Given the description of an element on the screen output the (x, y) to click on. 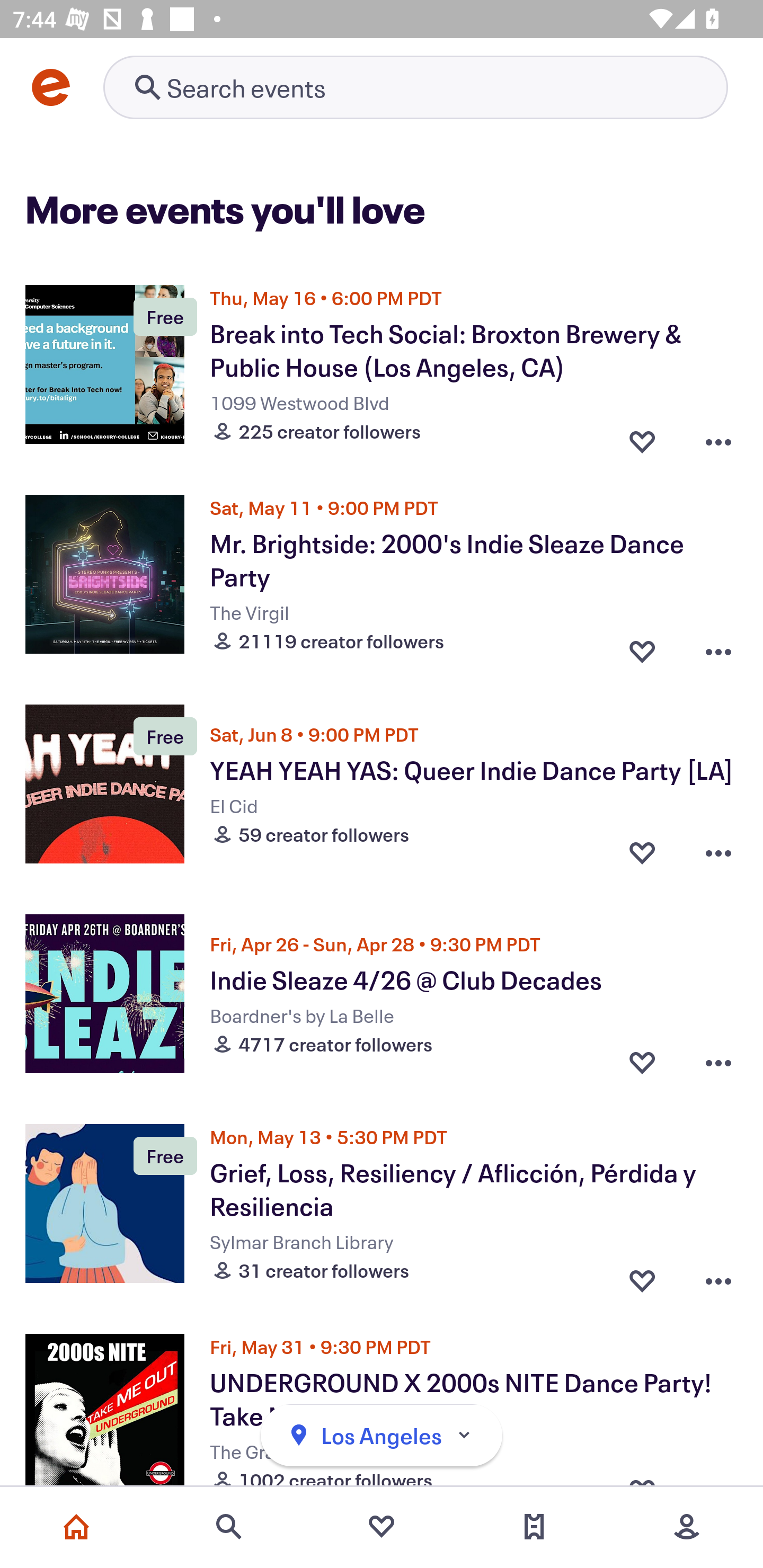
Retry's image Search events (415, 86)
Favorite button (642, 436)
Overflow menu button (718, 436)
Favorite button (642, 646)
Overflow menu button (718, 646)
Favorite button (642, 852)
Overflow menu button (718, 852)
Favorite button (642, 1062)
Overflow menu button (718, 1062)
Favorite button (642, 1275)
Overflow menu button (718, 1275)
Los Angeles (381, 1435)
Home (76, 1526)
Search events (228, 1526)
Favorites (381, 1526)
Tickets (533, 1526)
More (686, 1526)
